Given the description of an element on the screen output the (x, y) to click on. 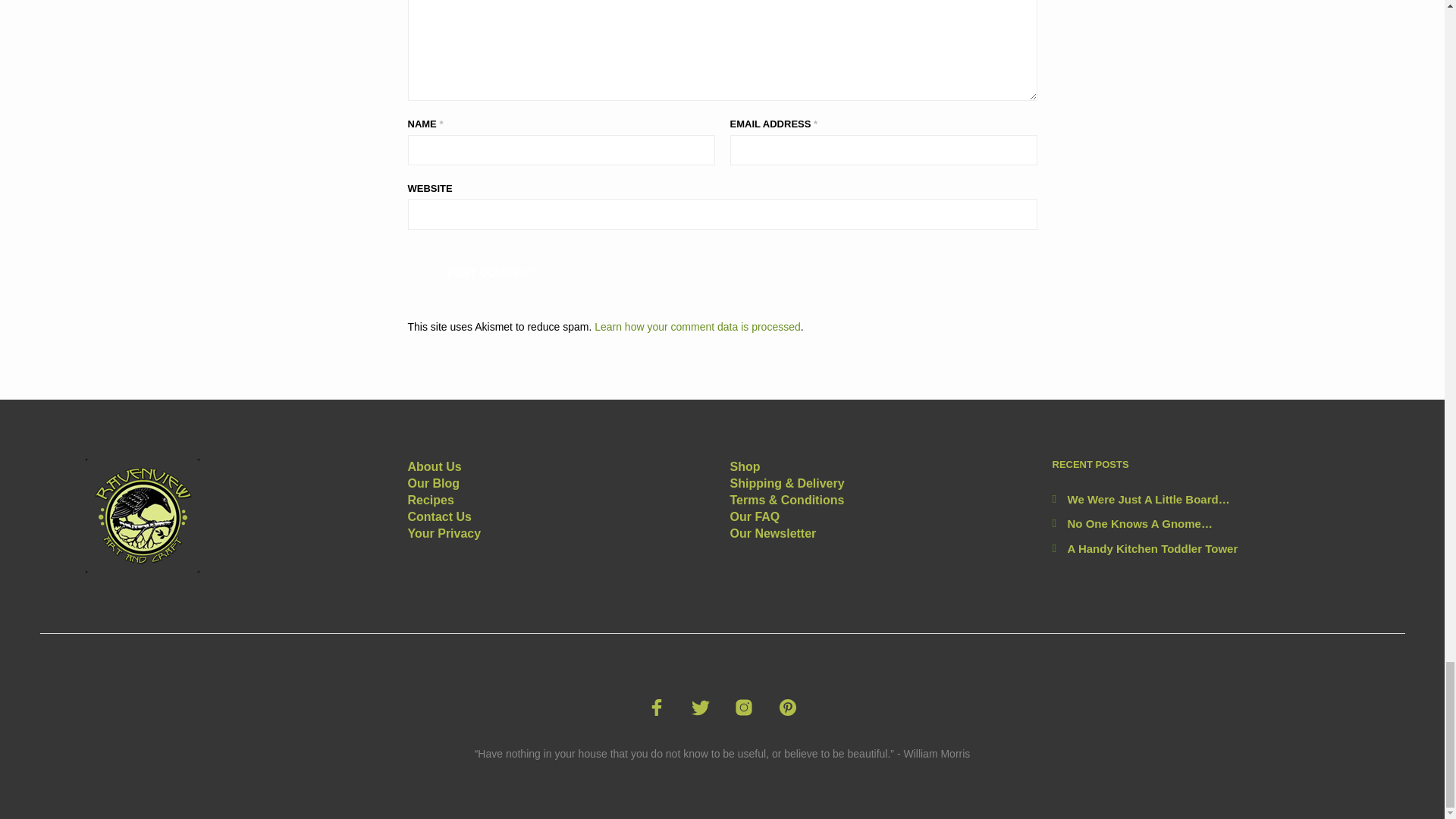
About Us (434, 466)
Post Comment (491, 272)
Learn how your comment data is processed (697, 326)
Our Blog (433, 482)
Contact Us (439, 516)
Post Comment (491, 272)
Recipes (430, 499)
Your Privacy (444, 533)
Shop (744, 466)
